Given the description of an element on the screen output the (x, y) to click on. 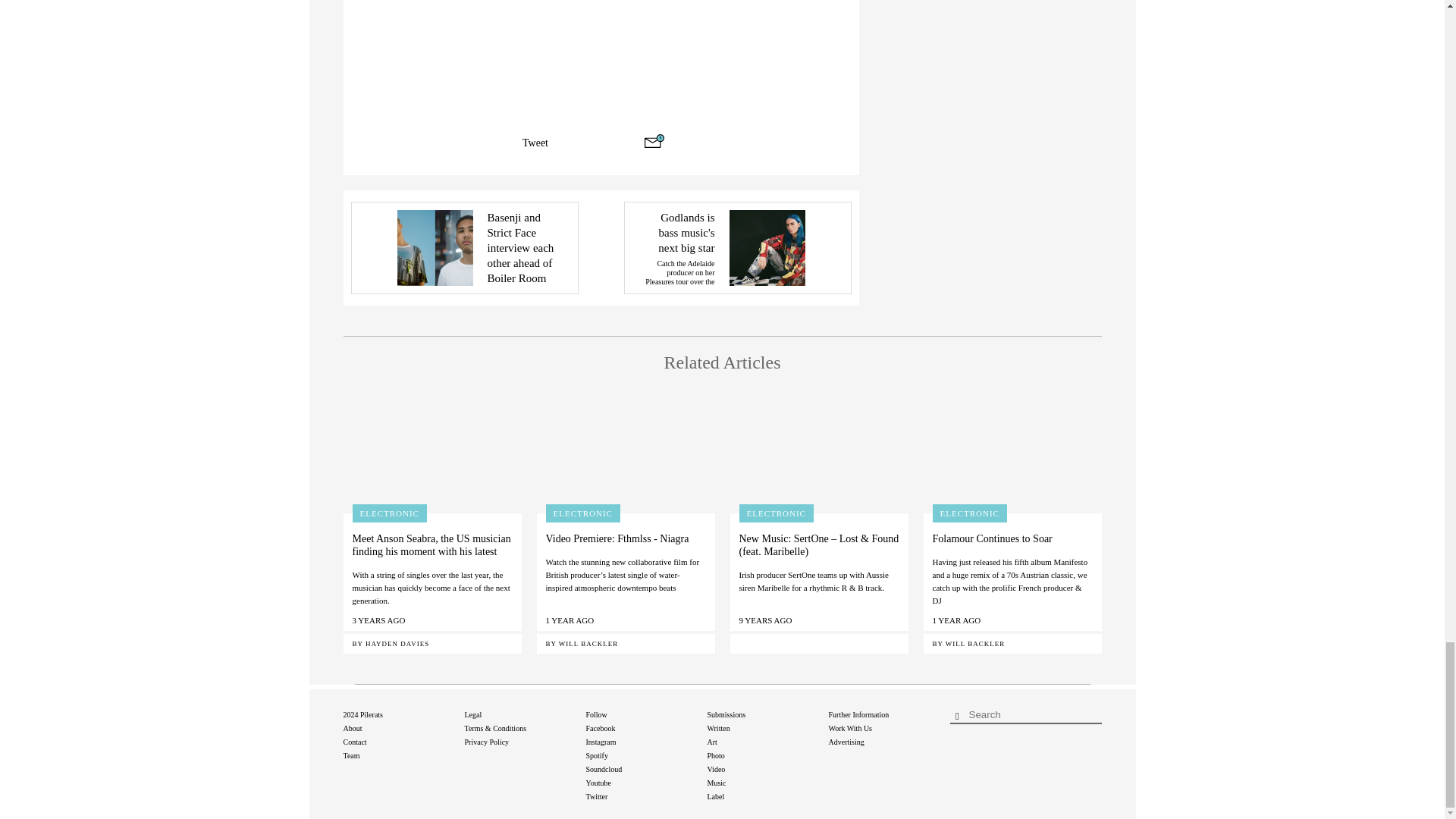
Next article: Godlands is bass music's next big star (736, 247)
Share via email (654, 141)
